Given the description of an element on the screen output the (x, y) to click on. 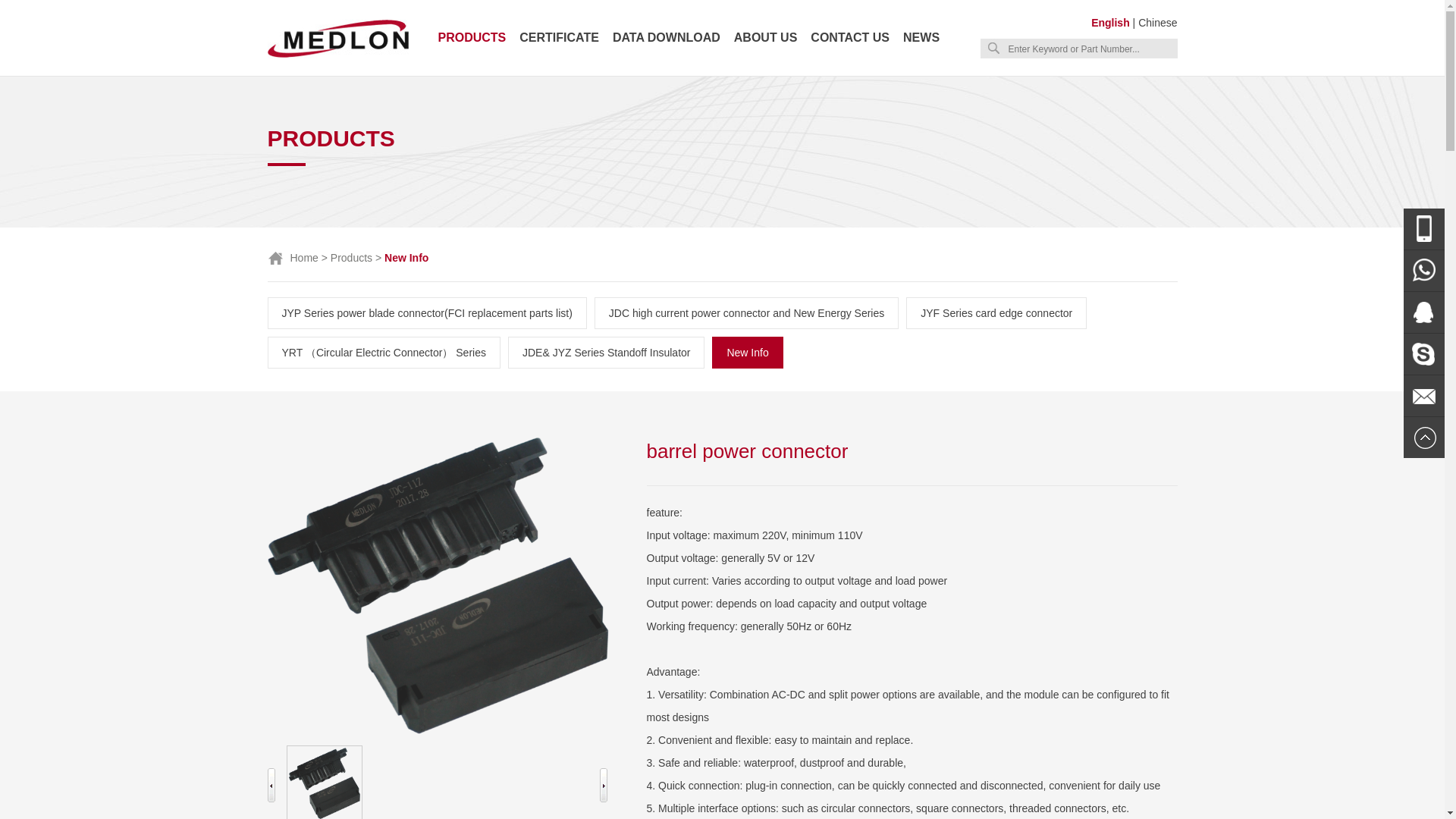
CONTACT US (849, 37)
Contact us (849, 37)
CERTIFICATE (558, 37)
English (1109, 22)
Certificate (558, 37)
Chinese (1157, 22)
News (920, 37)
NEWS (920, 37)
PRODUCTS (472, 37)
Shenzhen Medlon Hardware Product CO., LTD (336, 55)
